Given the description of an element on the screen output the (x, y) to click on. 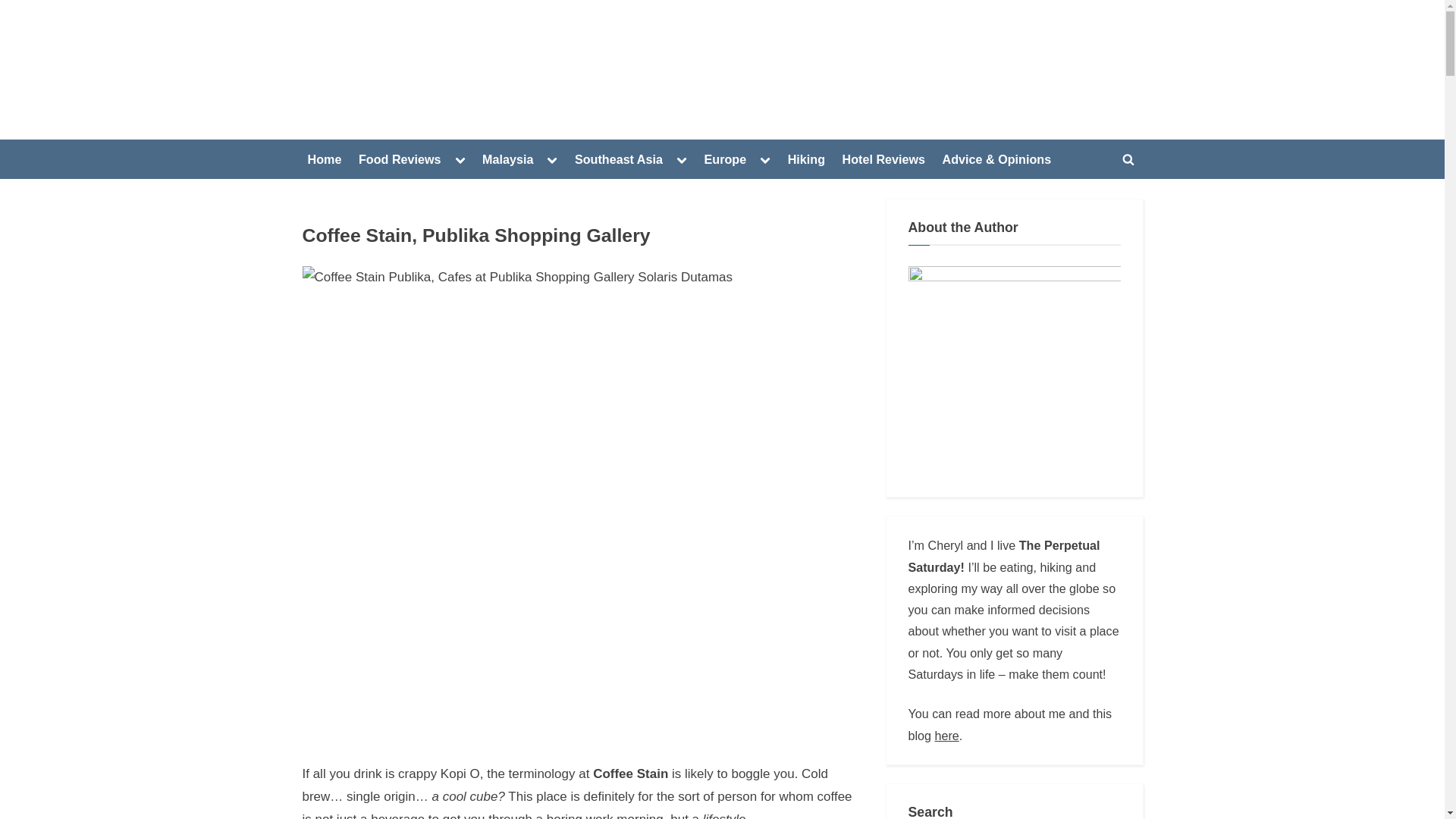
Food Reviews (399, 158)
Malaysia (507, 158)
Home (324, 158)
Toggle sub-menu (551, 158)
Toggle sub-menu (459, 158)
The Perpetual Saturday (387, 80)
